Given the description of an element on the screen output the (x, y) to click on. 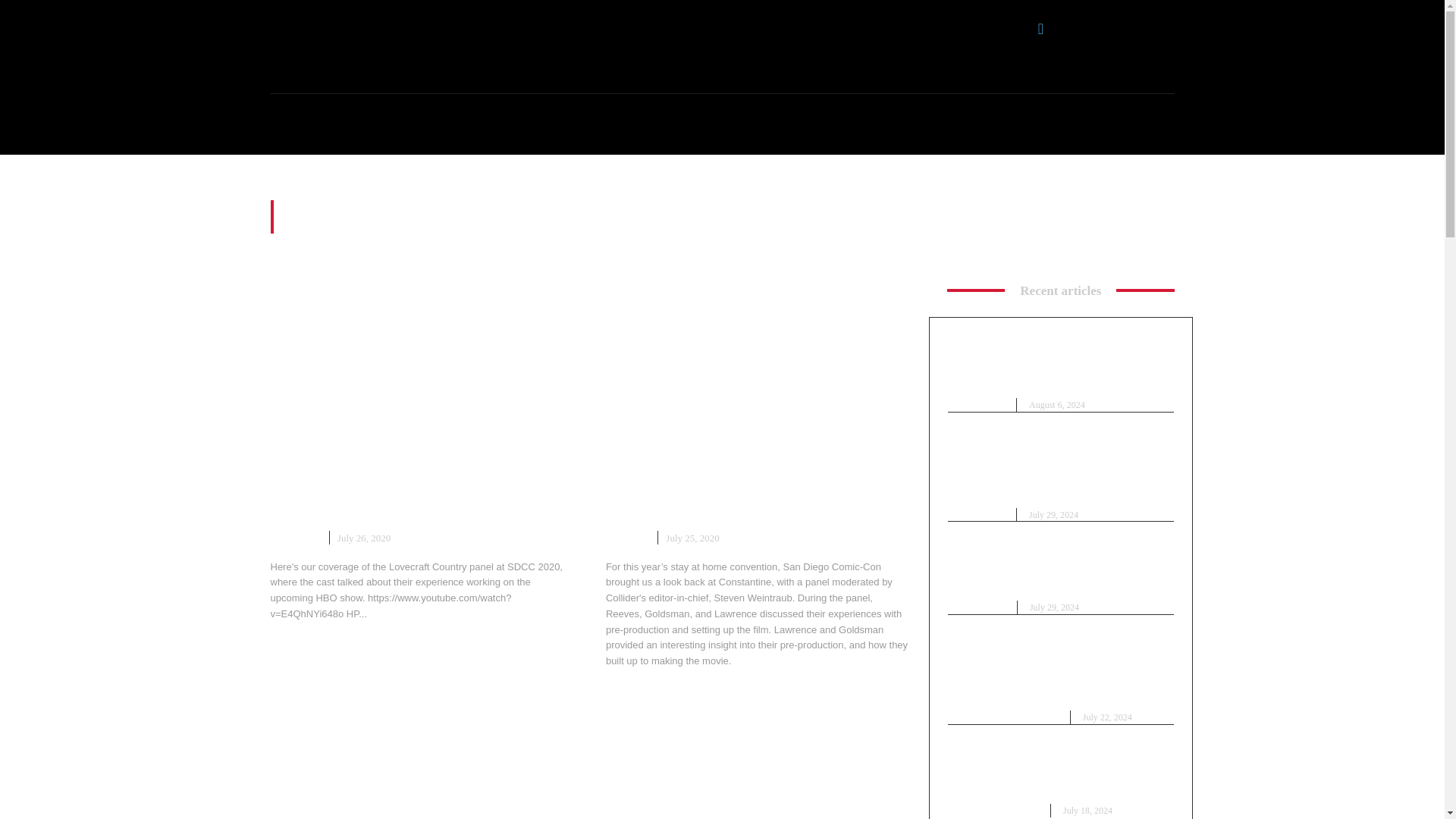
SDCC 2020 at Home: Constantine 15th Anniversary Panel (758, 370)
The Platform: A Reflection on Modern Societies (758, 763)
SDCC 2020 at Home: Constantine 15th Anniversary Panel (749, 502)
